Given the description of an element on the screen output the (x, y) to click on. 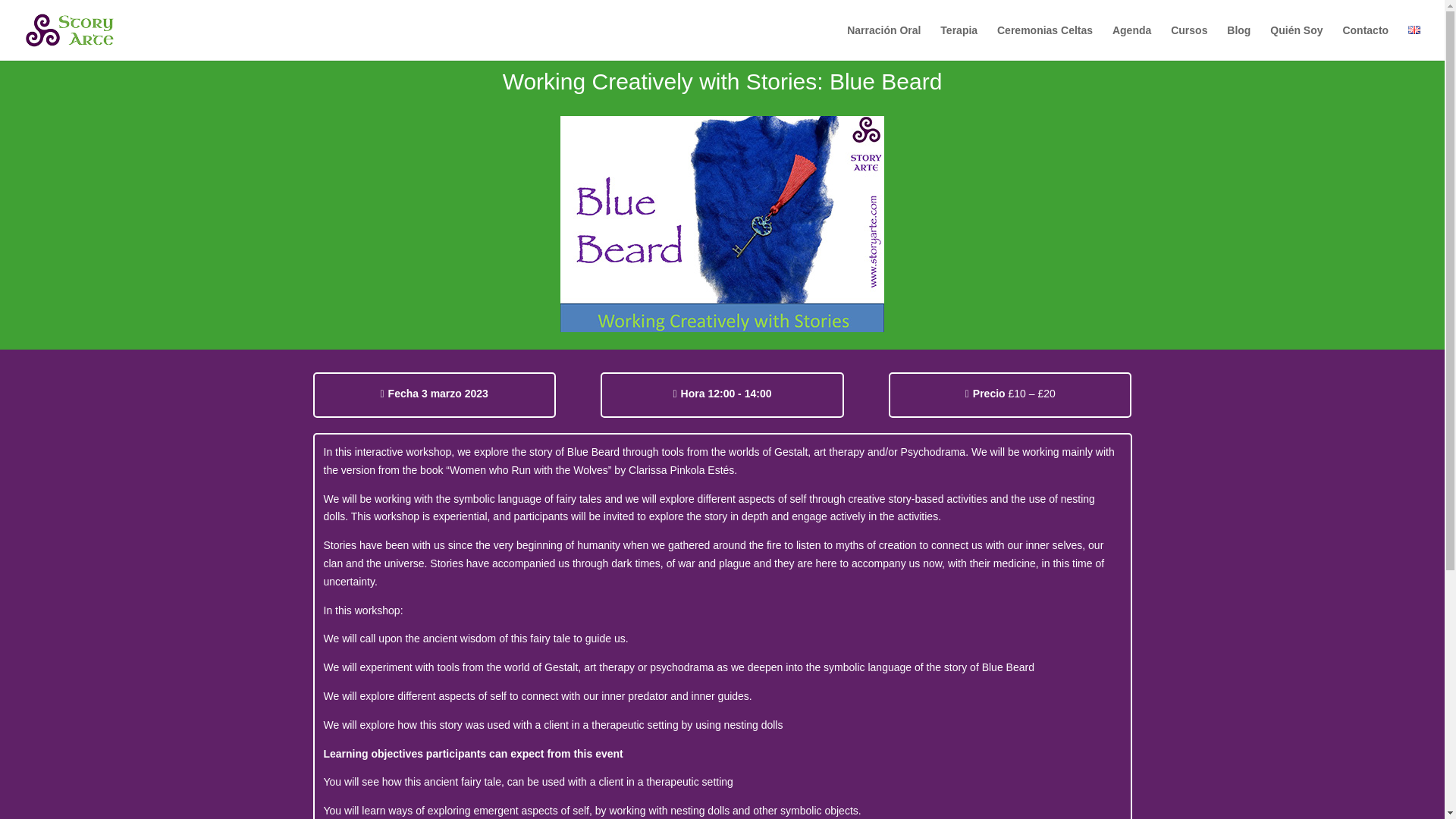
Contacto (1365, 42)
Agenda (1131, 42)
Ceremonias Celtas (1045, 42)
Terapia (958, 42)
Cursos (1188, 42)
